Given the description of an element on the screen output the (x, y) to click on. 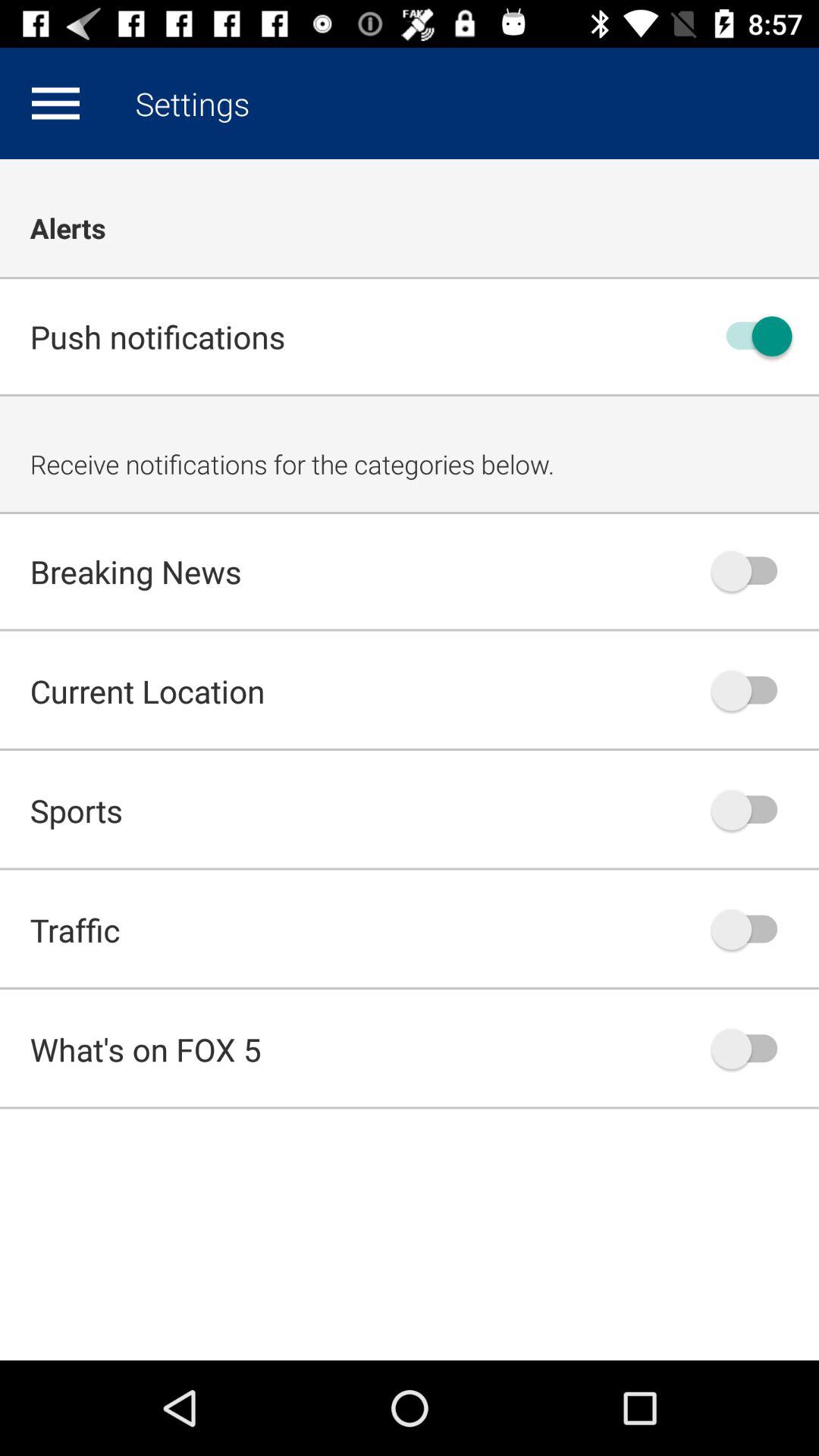
menu (55, 103)
